Given the description of an element on the screen output the (x, y) to click on. 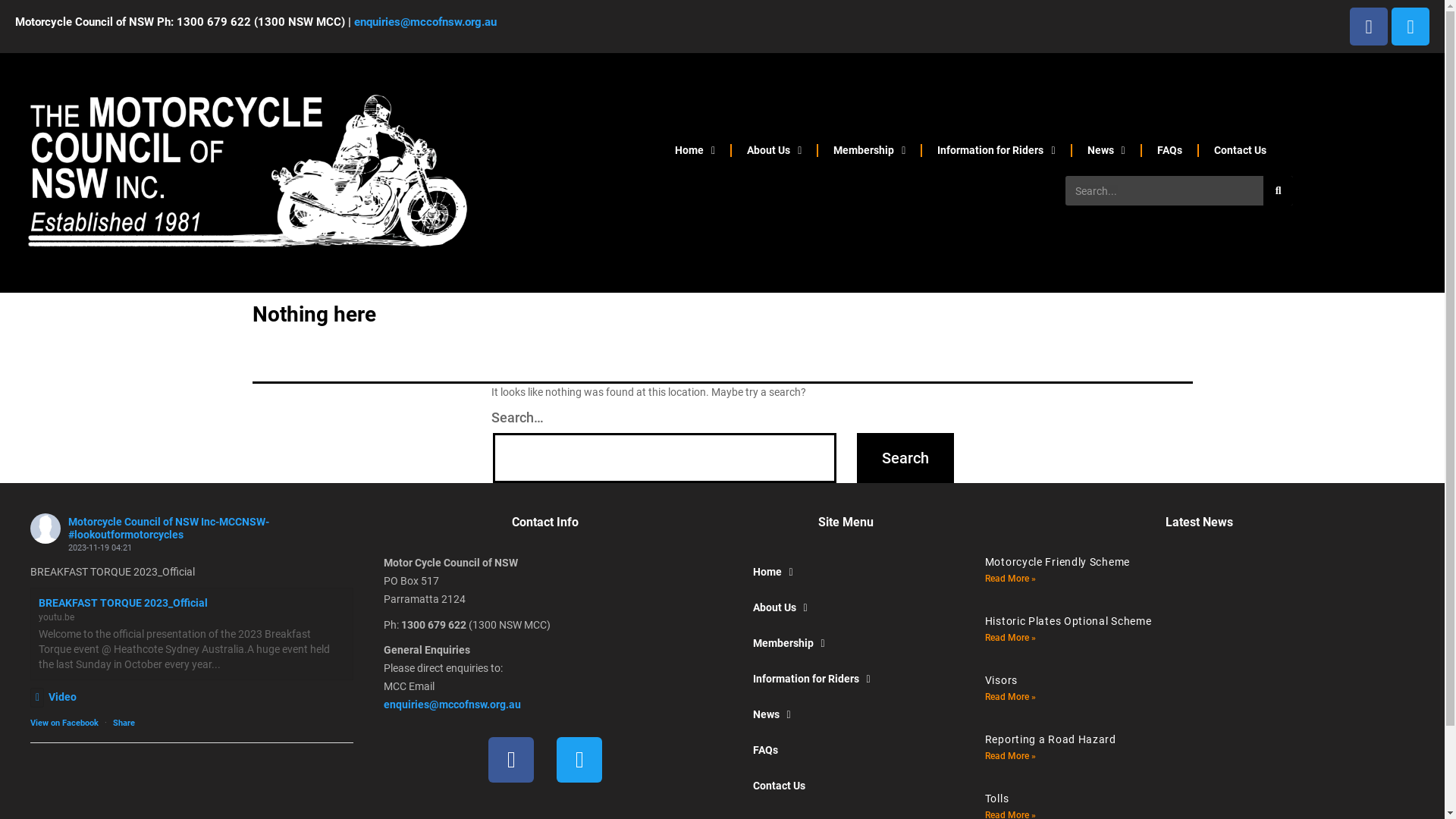
Motorcycle Council of NSW Inc-MCCNSW-#lookoutformotorcycles Element type: text (168, 527)
News Element type: text (845, 714)
Reporting a Road Hazard Element type: text (1050, 739)
Membership Element type: text (869, 150)
Contact Us Element type: text (845, 785)
Search Element type: text (904, 458)
Contact Us Element type: text (1239, 150)
Historic Plates Optional Scheme Element type: text (1068, 621)
View on Facebook Element type: text (64, 723)
FAQs Element type: text (1169, 150)
Share Element type: text (123, 723)
Visors Element type: text (1001, 680)
Motorcycle Friendly Scheme Element type: text (1057, 561)
enquiries@mccofnsw.org.au Element type: text (451, 704)
Home Element type: text (845, 571)
Membership Element type: text (845, 643)
Video Element type: text (53, 696)
Information for Riders Element type: text (845, 678)
News Element type: text (1106, 150)
enquiries@mccofnsw.org.au Element type: text (425, 21)
BREAKFAST TORQUE 2023_Official Element type: text (122, 602)
FAQs Element type: text (845, 750)
Tolls Element type: text (997, 798)
Information for Riders Element type: text (996, 150)
About Us Element type: text (845, 607)
Home Element type: text (694, 150)
About Us Element type: text (773, 150)
